Given the description of an element on the screen output the (x, y) to click on. 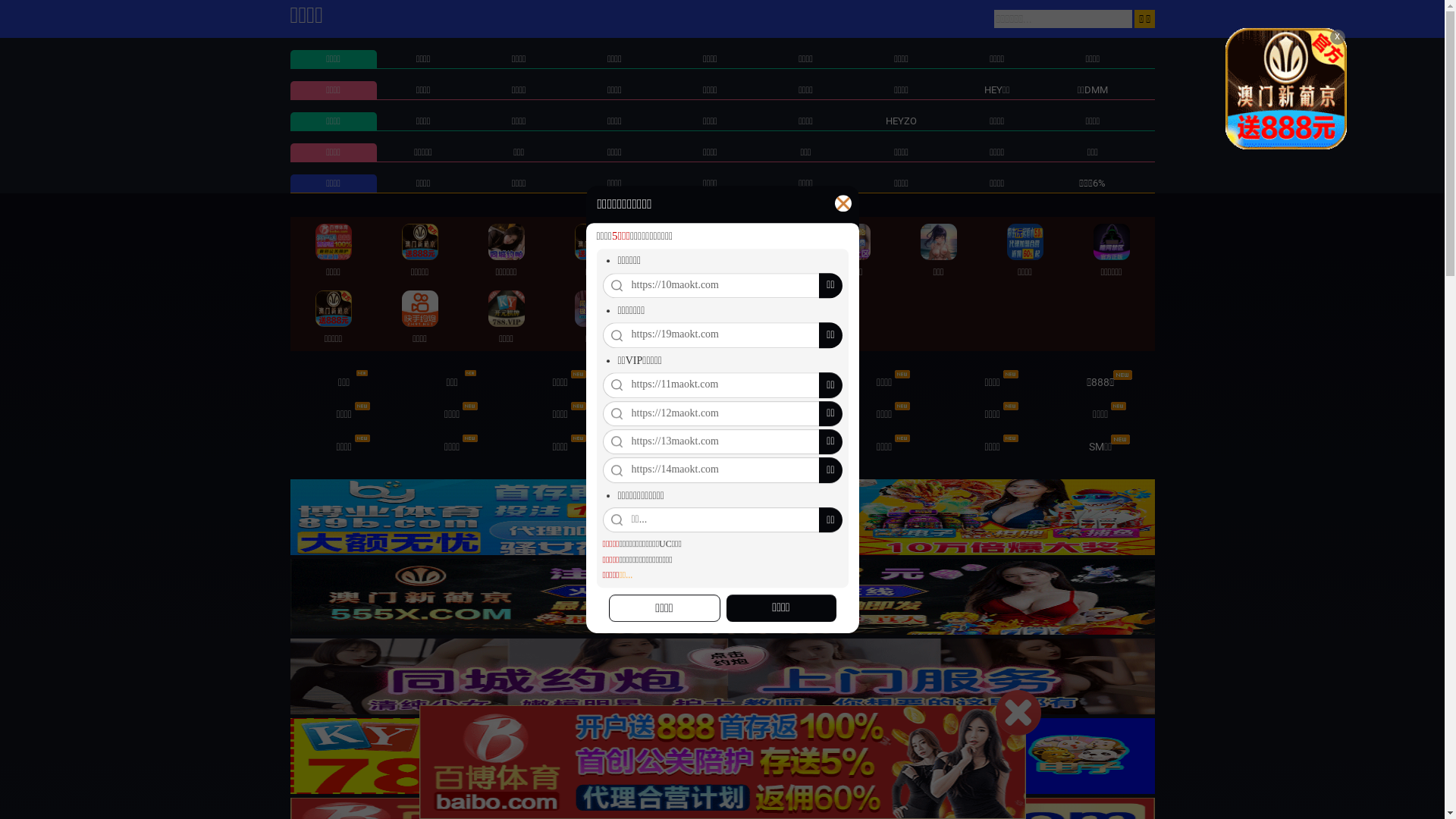
HEYZO Element type: text (900, 120)
